Given the description of an element on the screen output the (x, y) to click on. 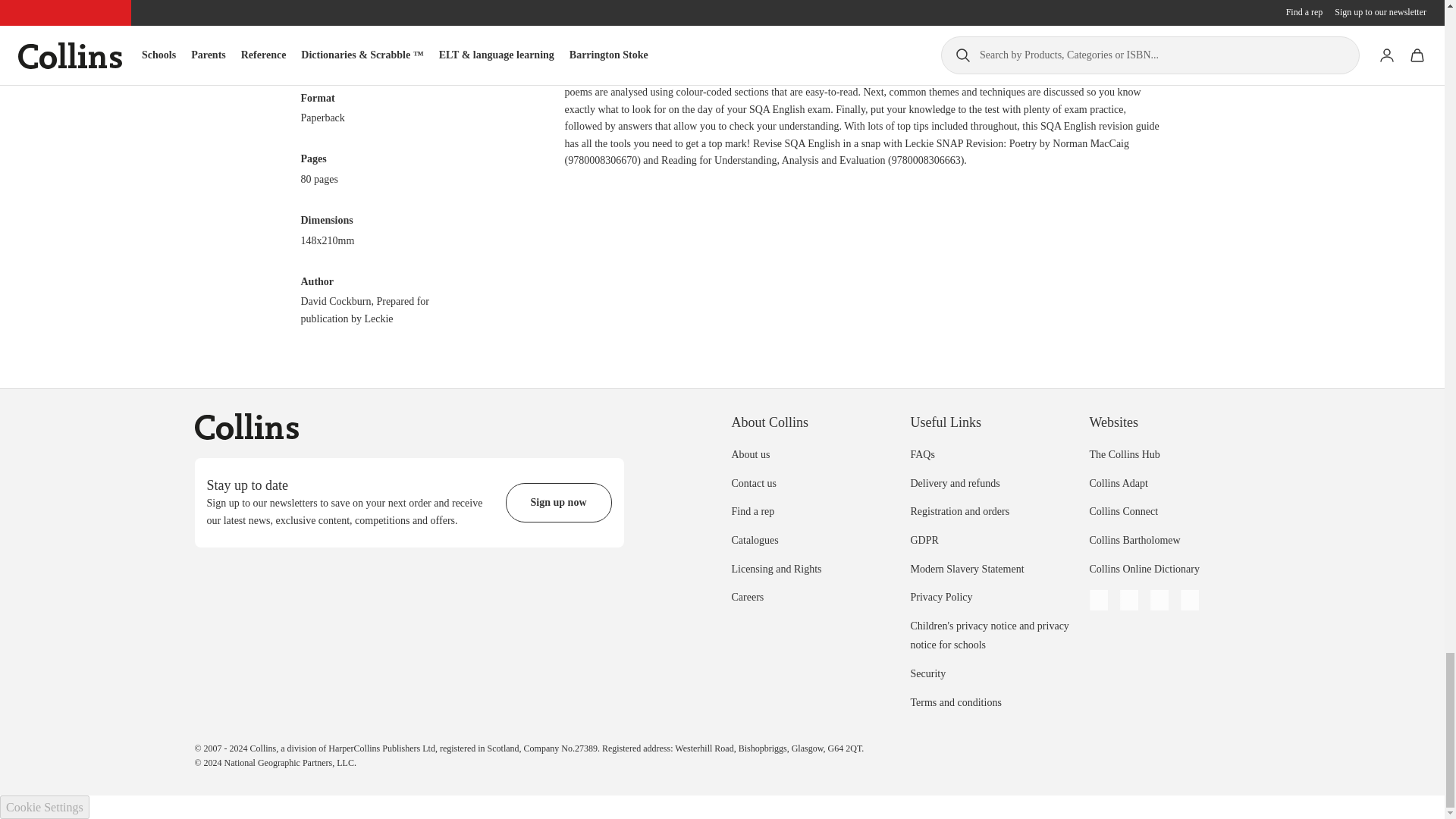
Licensing and Rights (775, 568)
Children's privacy notice and privacy notice for schools (989, 635)
Terms and conditions (955, 702)
About us (750, 454)
FAQs (922, 454)
Registration and orders (959, 511)
GDPR (923, 540)
Contact us (753, 482)
Careers (746, 596)
Catalogues (753, 540)
Delivery and refunds (954, 482)
Modern Slavery Statement (966, 568)
Privacy Policy (941, 596)
Sign up now (558, 502)
Security (927, 673)
